Given the description of an element on the screen output the (x, y) to click on. 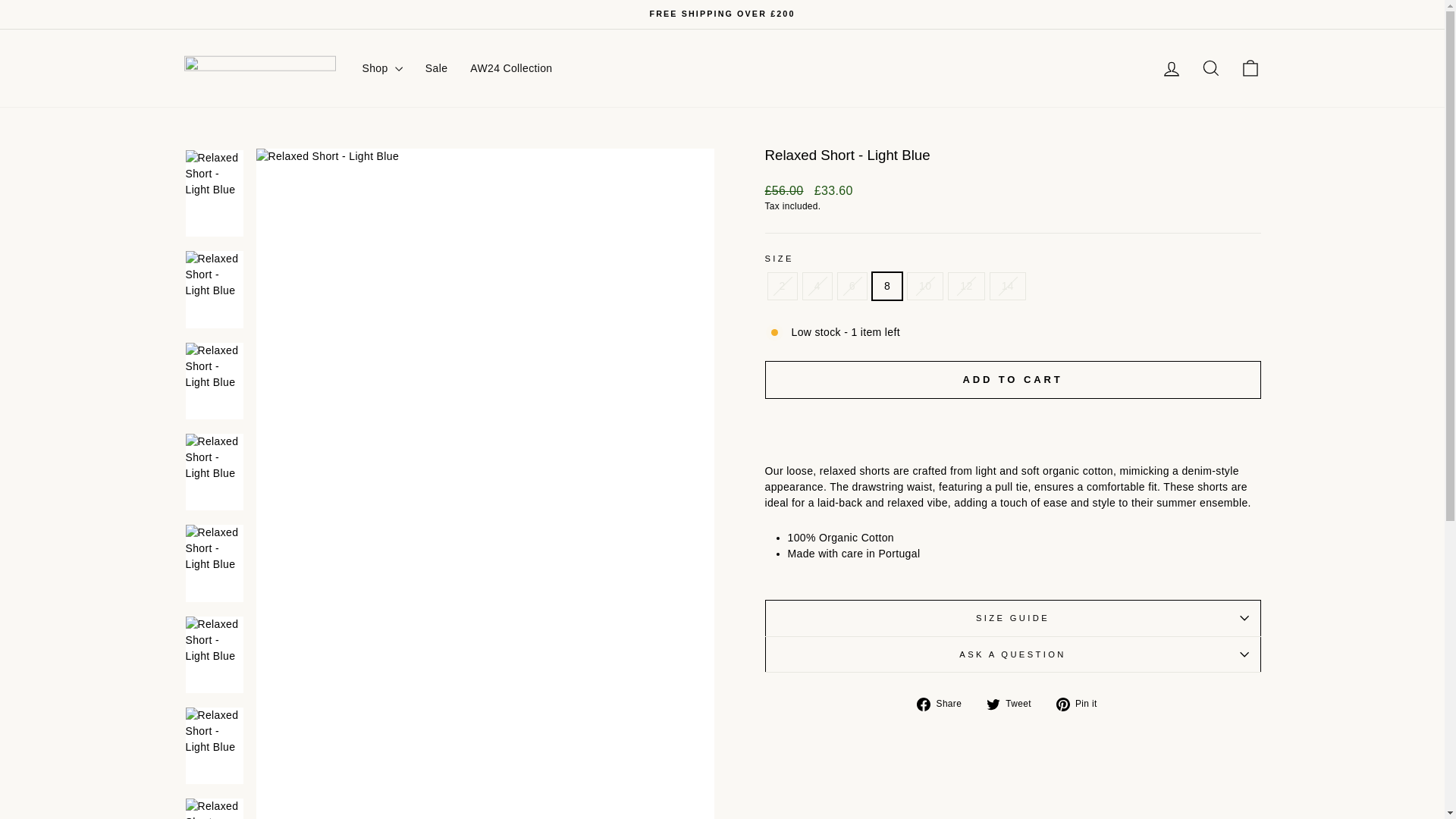
twitter (993, 704)
icon-bag-minimal (1210, 68)
10 (1249, 67)
6 (1171, 68)
